Given the description of an element on the screen output the (x, y) to click on. 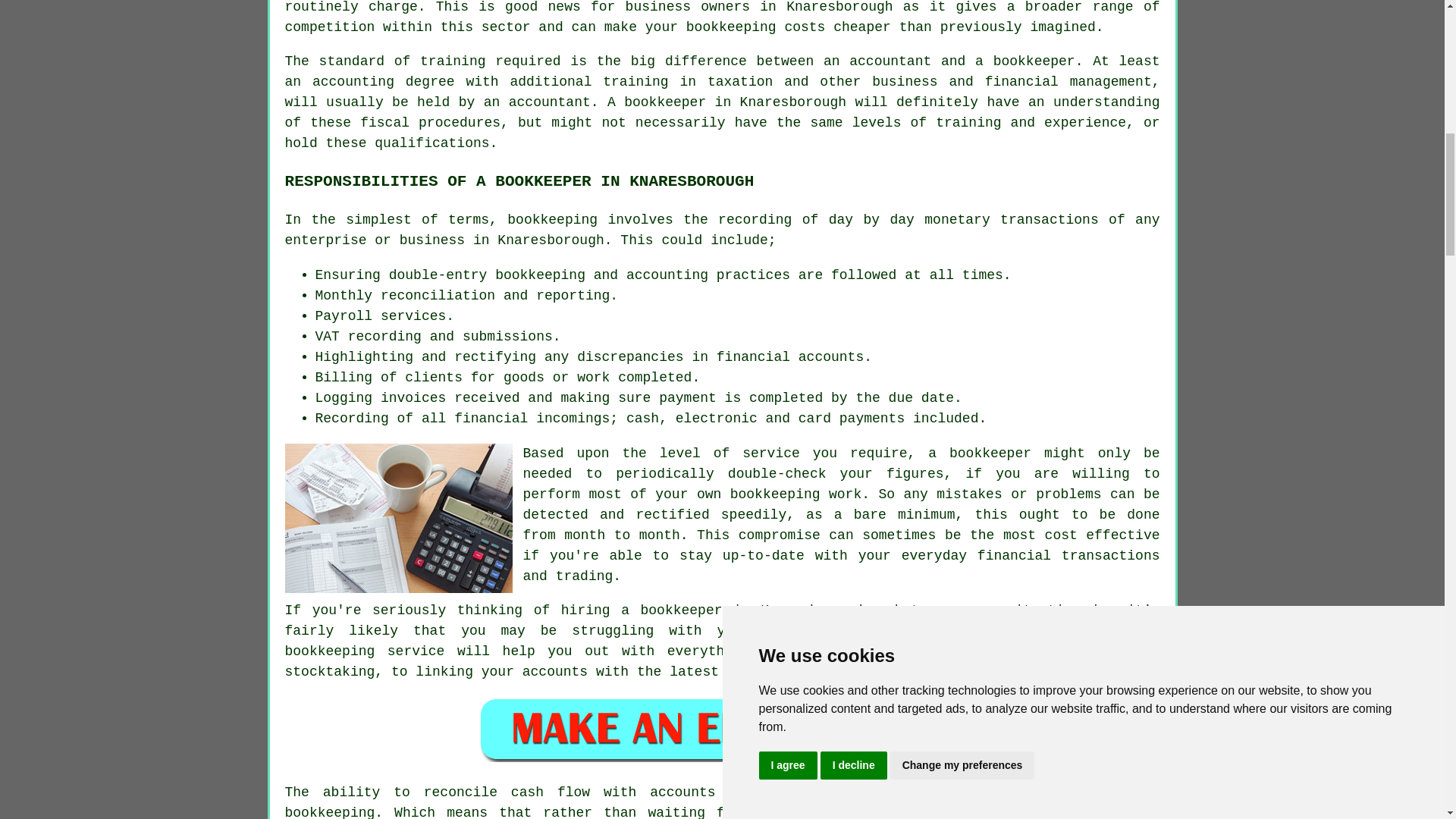
accountant (549, 102)
Bookkeeping Enquiries in Knaresborough North Yorkshire (722, 729)
